Given the description of an element on the screen output the (x, y) to click on. 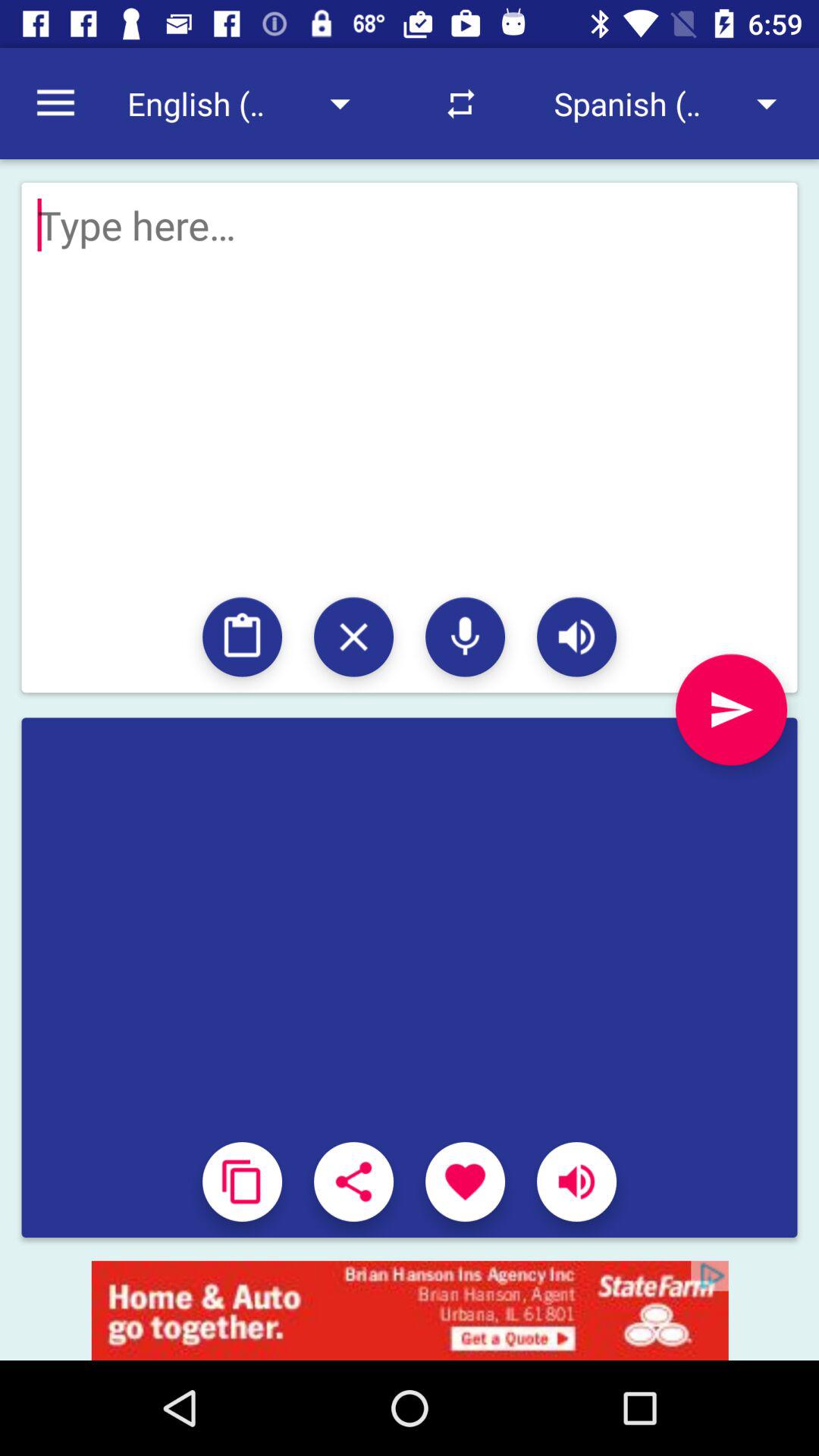
adjust the volume (576, 1181)
